Given the description of an element on the screen output the (x, y) to click on. 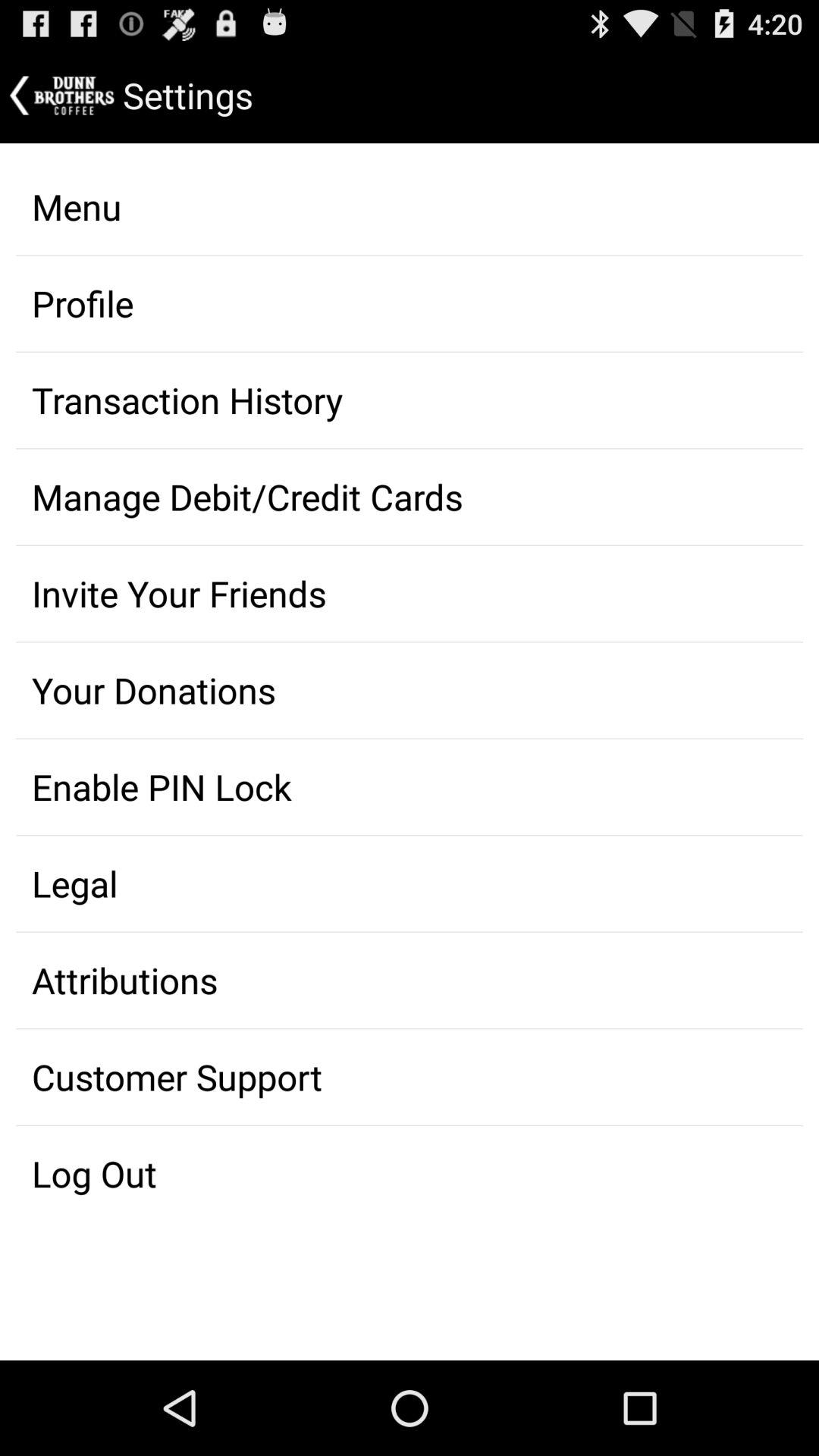
press the item below customer support icon (409, 1173)
